Given the description of an element on the screen output the (x, y) to click on. 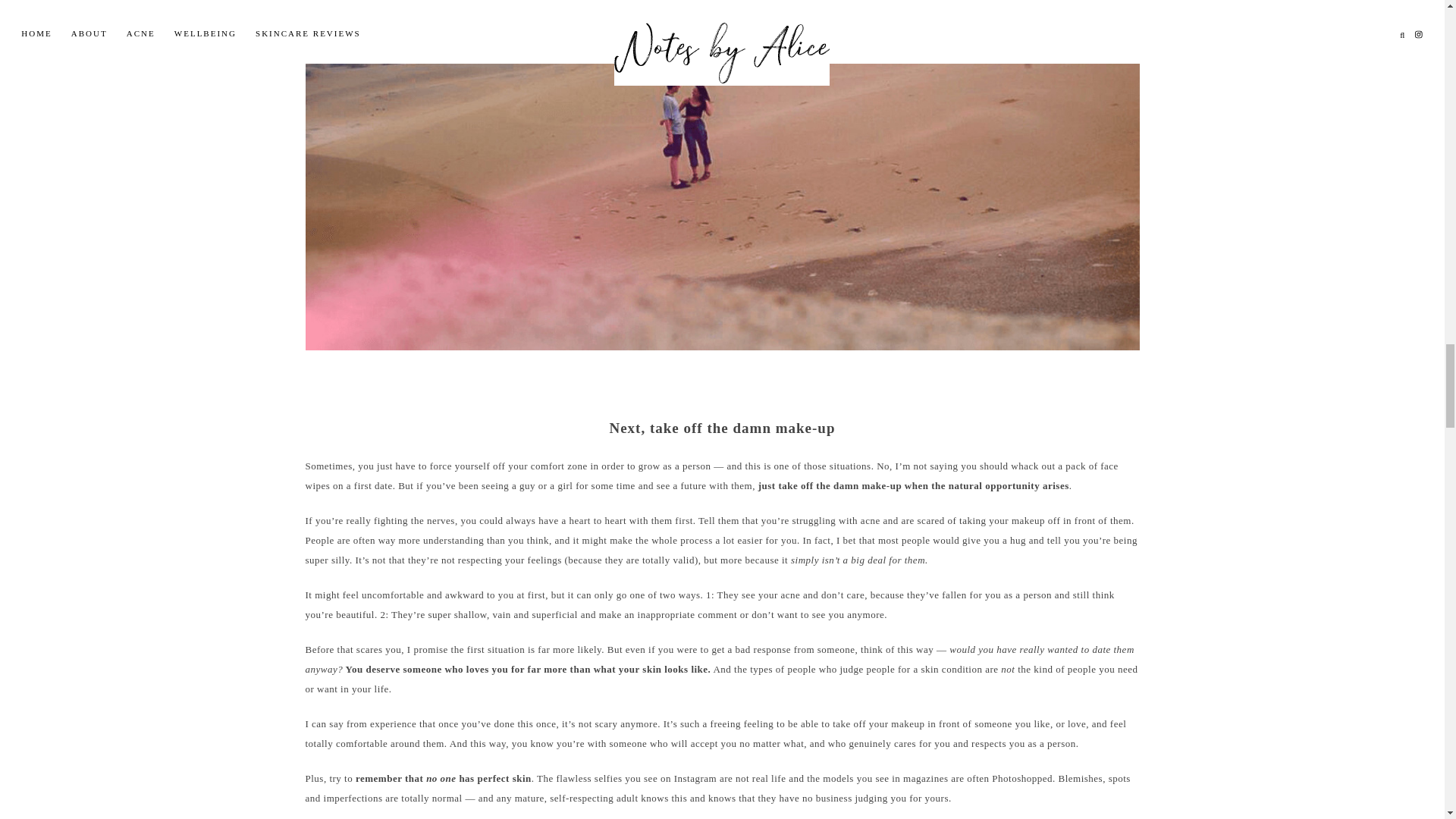
flawless selfies you see on Instagram are not real life (671, 778)
